Given the description of an element on the screen output the (x, y) to click on. 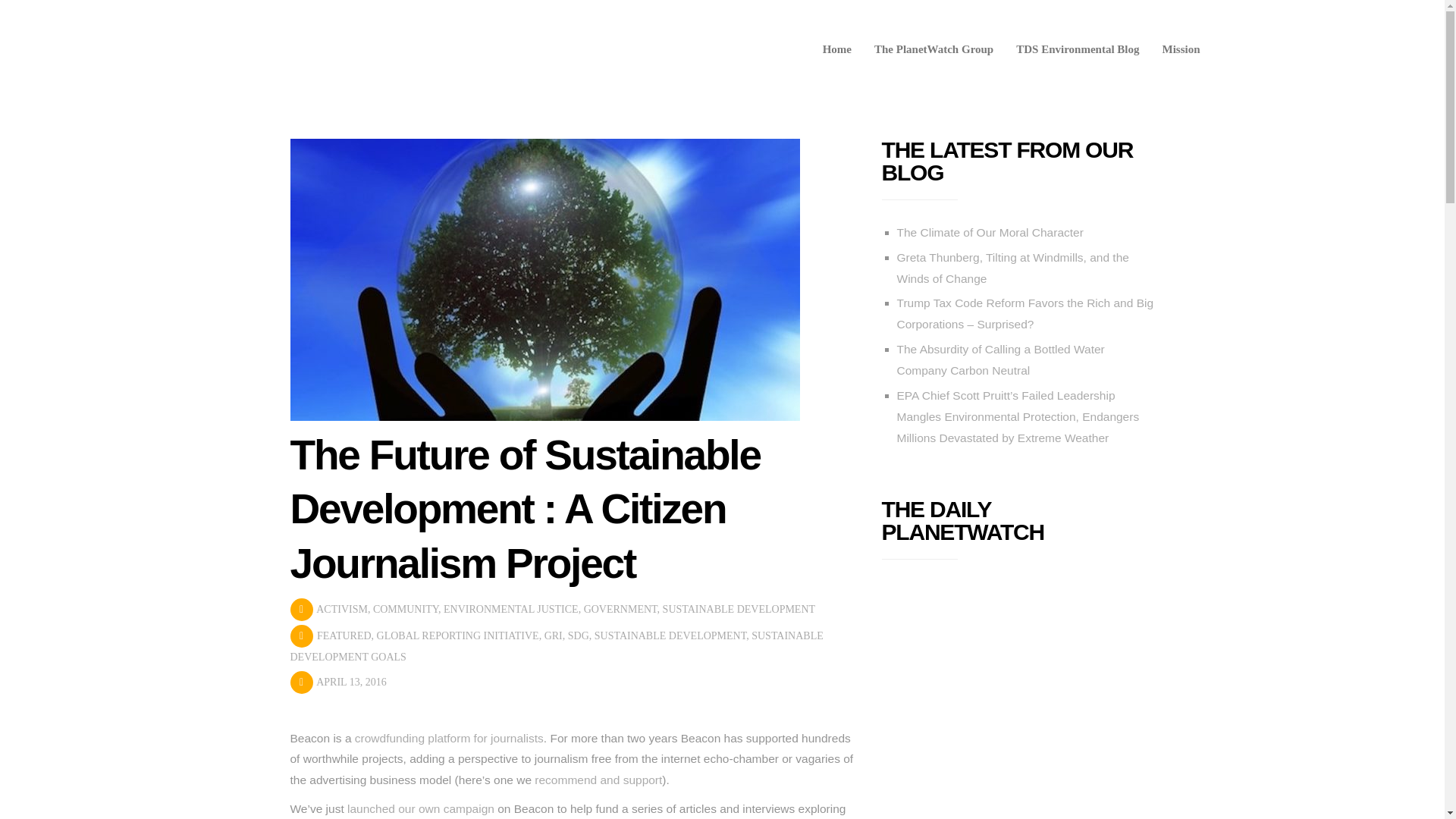
Home (836, 49)
TDS Environmental Blog (1077, 49)
recommend and support (598, 779)
COMMUNITY (405, 609)
ENVIRONMENTAL JUSTICE (511, 609)
The PlanetWatch Group (933, 49)
FEATURED (344, 635)
GLOBAL REPORTING INITIATIVE (457, 635)
launched our own campaign (421, 808)
SDG (578, 635)
